Given the description of an element on the screen output the (x, y) to click on. 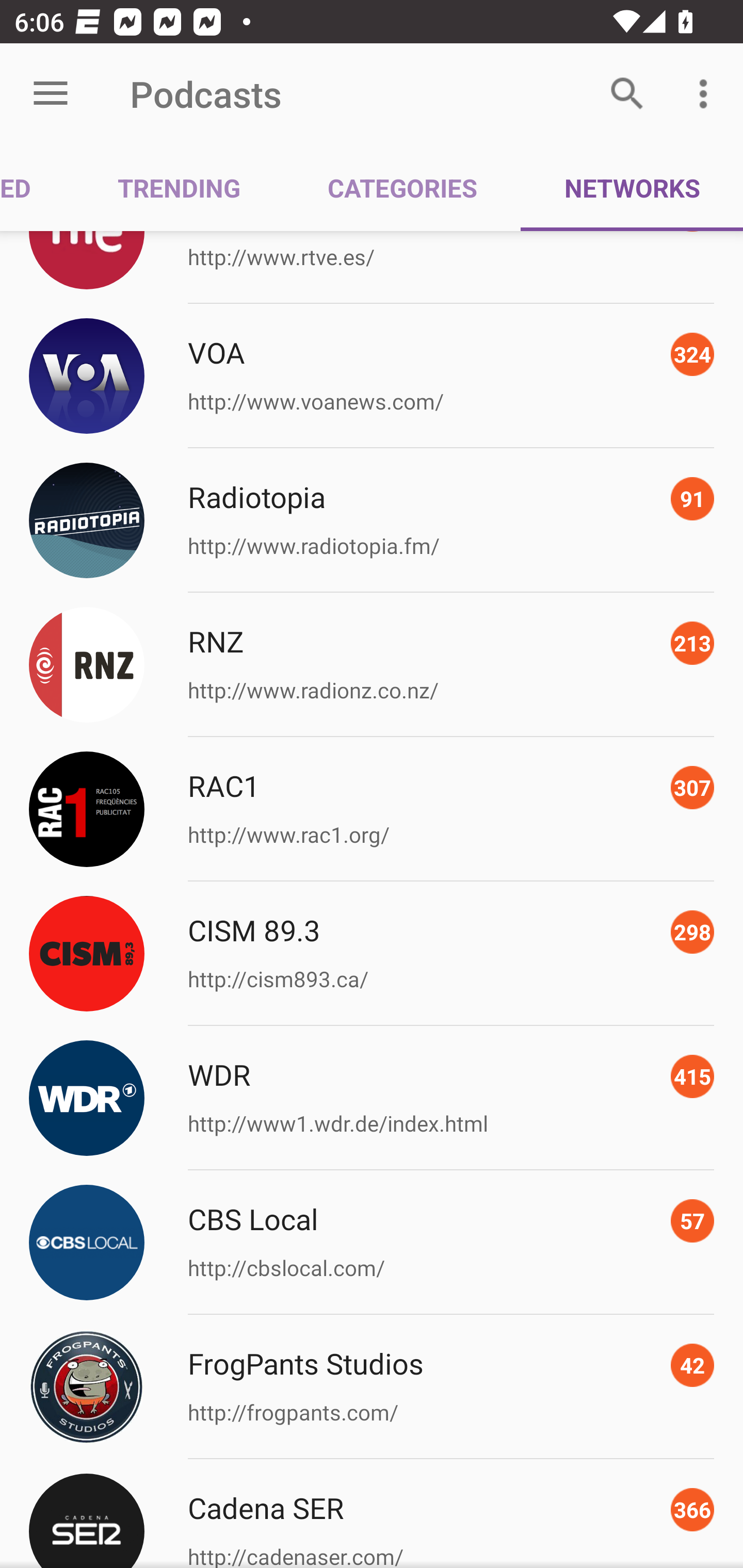
Open menu (50, 93)
Search (626, 93)
More options (706, 93)
TRENDING (178, 187)
CATEGORIES (401, 187)
NETWORKS (631, 187)
Picture 6 http://www.rtve.es/ (371, 267)
Picture VOA 324 http://www.voanews.com/ (371, 376)
Picture Radiotopia 91 http://www.radiotopia.fm/ (371, 520)
Picture RNZ 213 http://www.radionz.co.nz/ (371, 664)
Picture RAC1 307 http://www.rac1.org/ (371, 808)
Picture CISM 89.3 298 http://cism893.ca/ (371, 953)
Picture WDR 415 http://www1.wdr.de/index.html (371, 1097)
Picture CBS Local 57 http://cbslocal.com/ (371, 1241)
Picture FrogPants Studios 42 http://frogpants.com/ (371, 1386)
Picture Cadena SER 366 http://cadenaser.com/ (371, 1513)
